Given the description of an element on the screen output the (x, y) to click on. 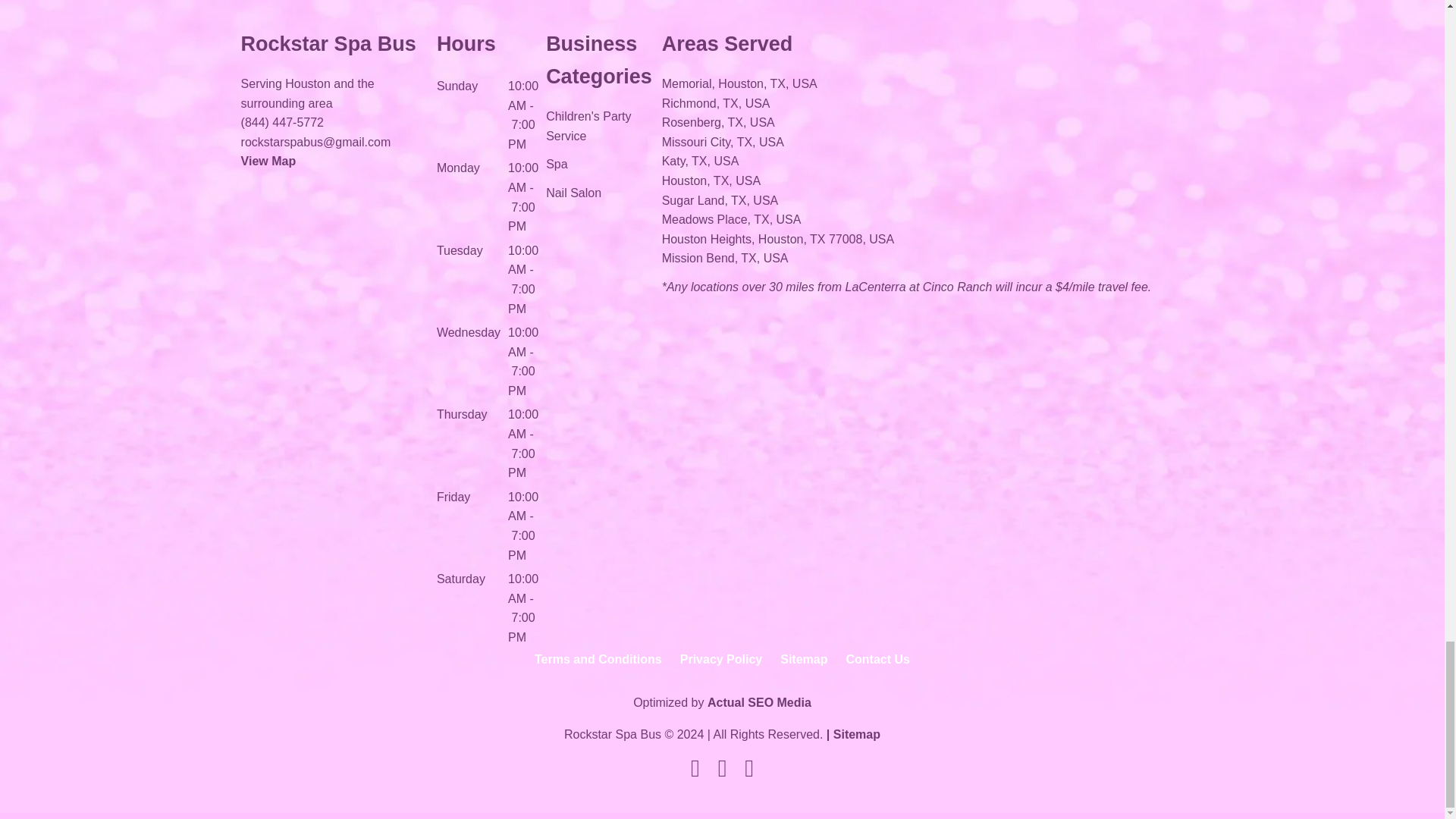
Privacy Policy (720, 665)
Sitemap (803, 665)
View Map (269, 160)
Terms and Conditions (598, 665)
Actual SEO Media (758, 702)
Contact Us (877, 665)
